Given the description of an element on the screen output the (x, y) to click on. 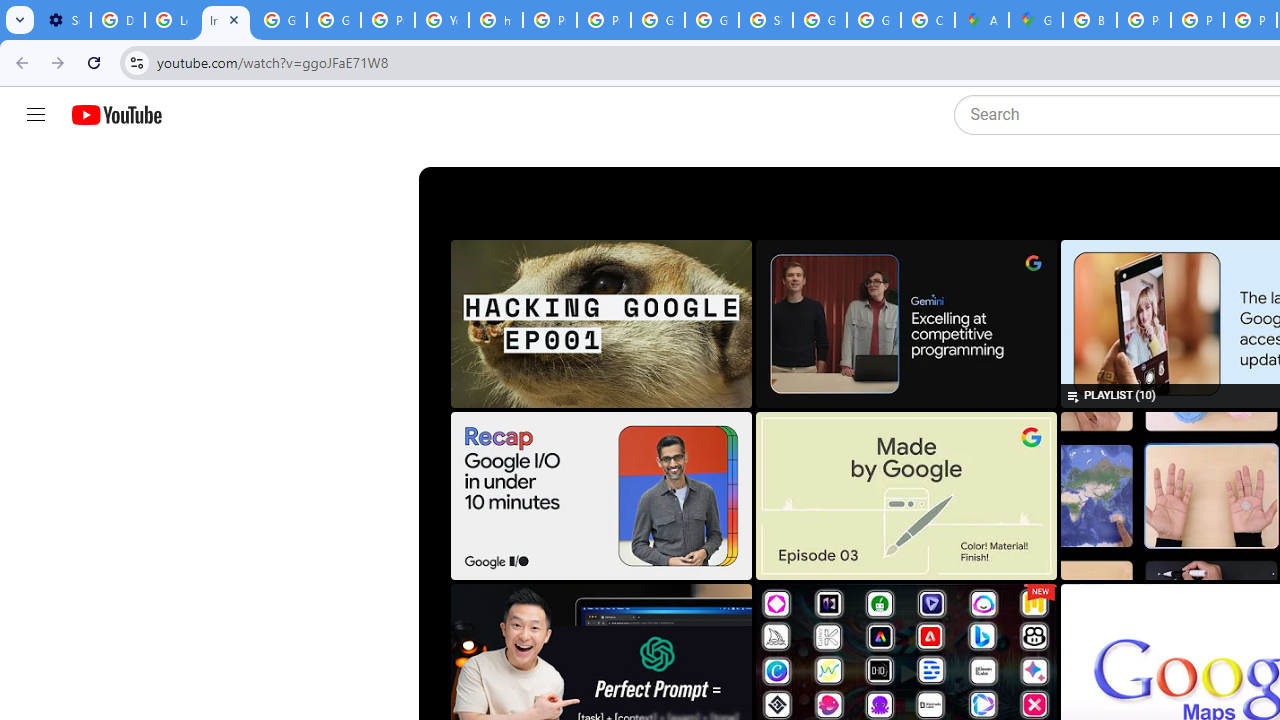
Settings - Customize profile (63, 20)
https://scholar.google.com/ (495, 20)
Privacy Help Center - Policies Help (1197, 20)
Google Maps (1035, 20)
